Given the description of an element on the screen output the (x, y) to click on. 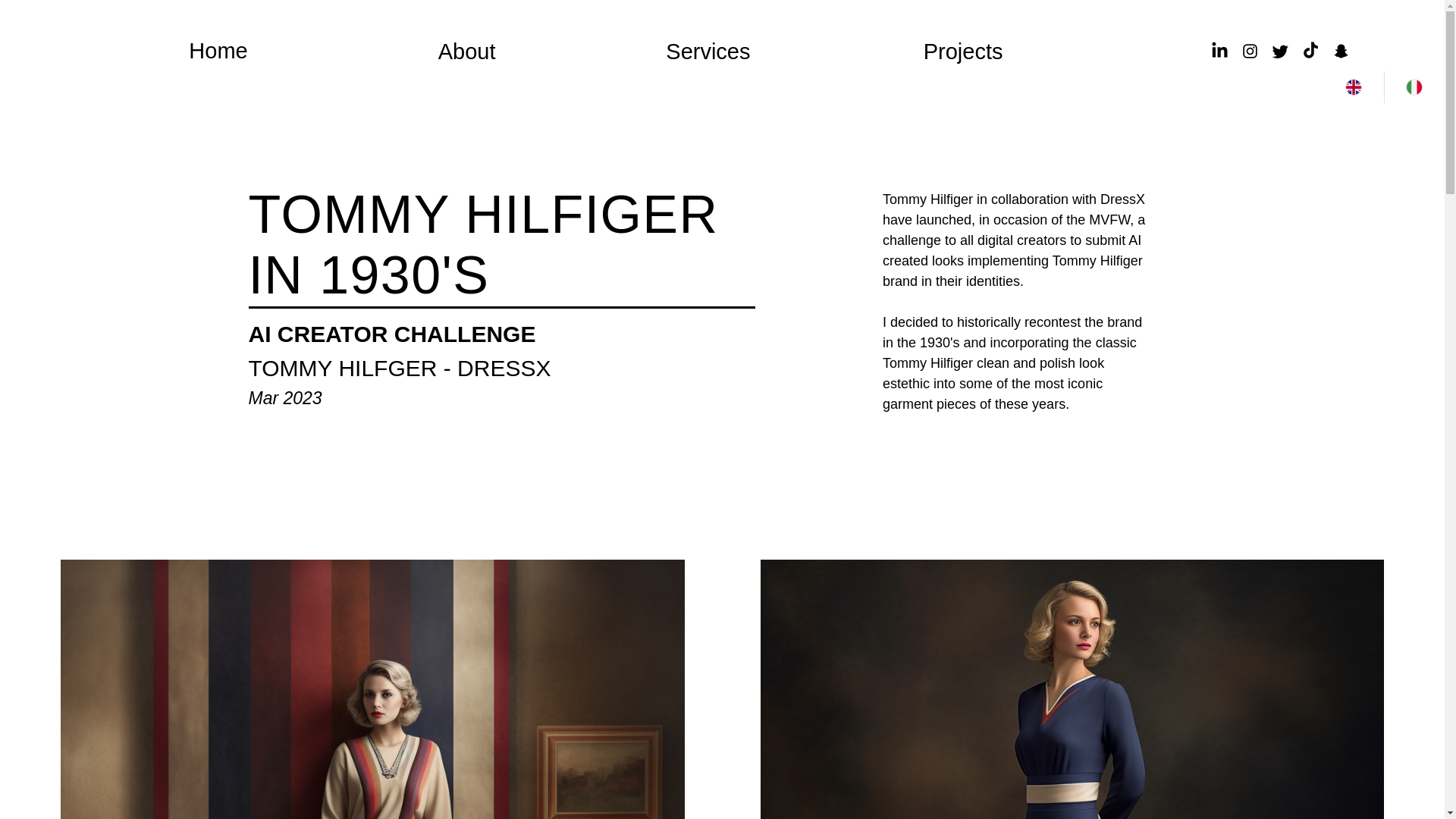
About (388, 51)
Projects (887, 51)
Services (633, 51)
Home (218, 50)
